Given the description of an element on the screen output the (x, y) to click on. 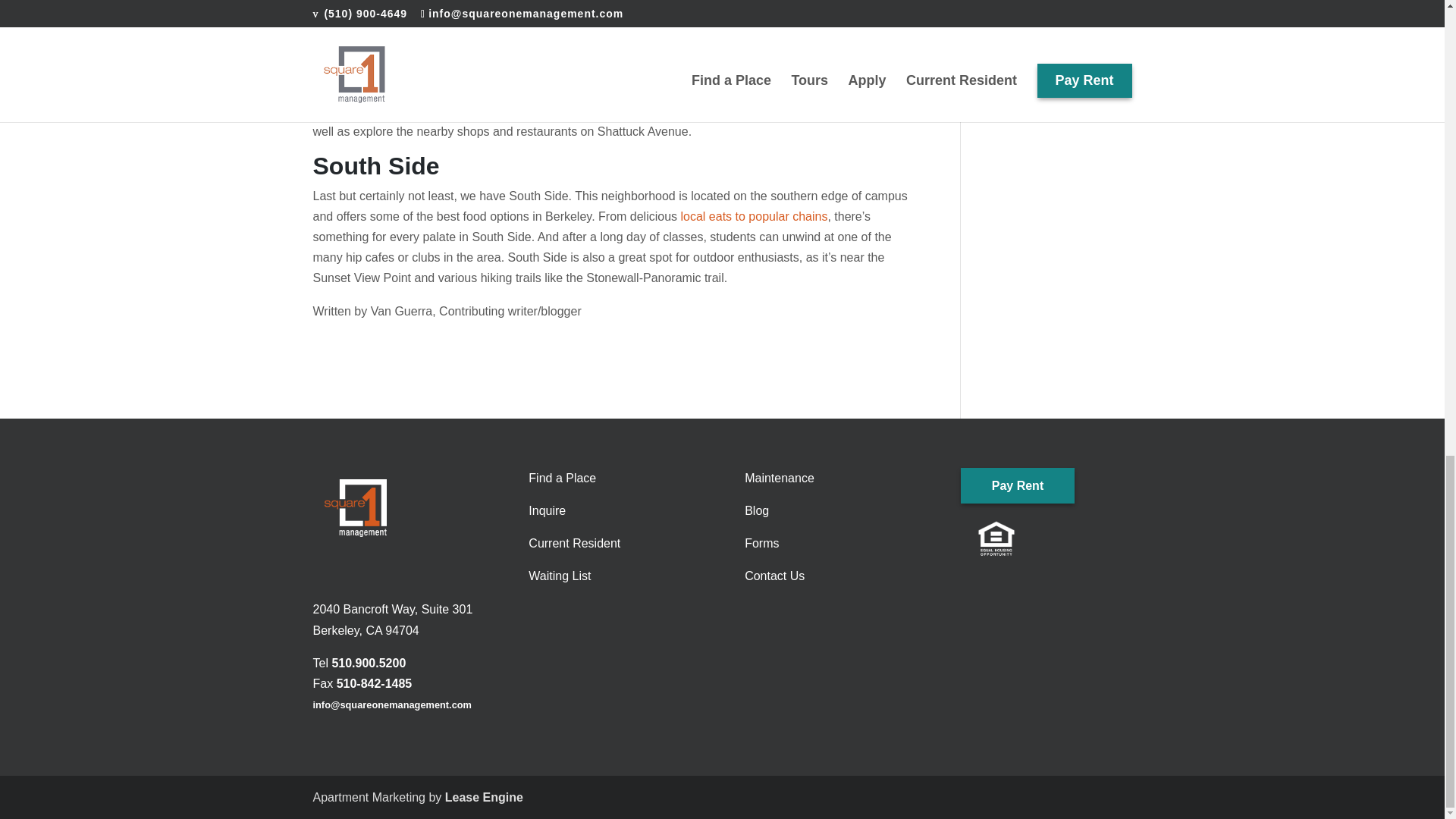
Find a Place (561, 477)
Lease Engine (483, 797)
Current Resident (574, 543)
Forms (761, 543)
Pay Rent (1017, 522)
Waiting List (559, 575)
Contact Us (774, 575)
Inquire (547, 510)
student apartments (543, 89)
Maintenance (778, 477)
Blog (756, 510)
510.900.5200 (368, 662)
local eats to popular chains (754, 215)
